Given the description of an element on the screen output the (x, y) to click on. 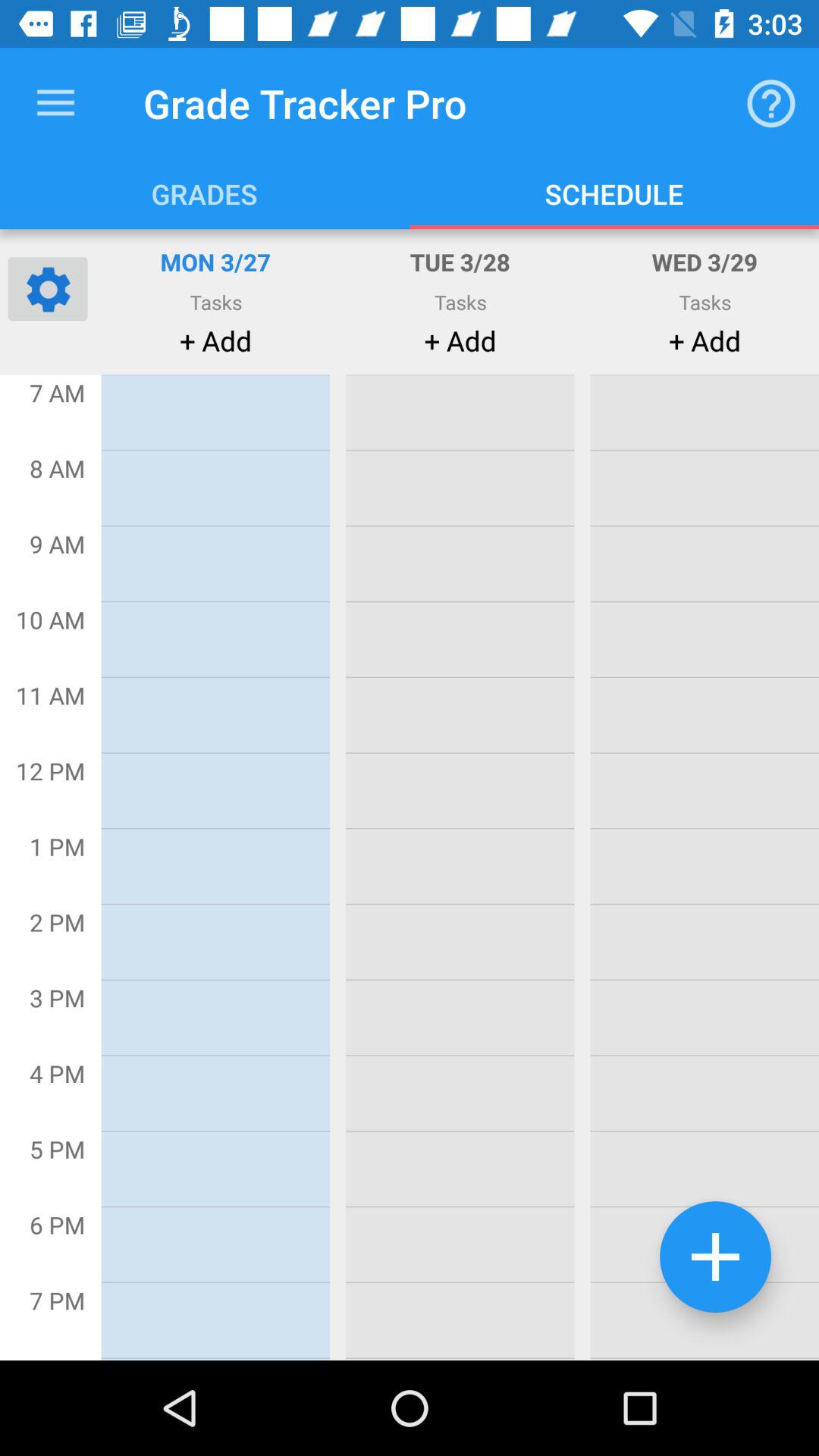
go to the settings page (47, 288)
